Given the description of an element on the screen output the (x, y) to click on. 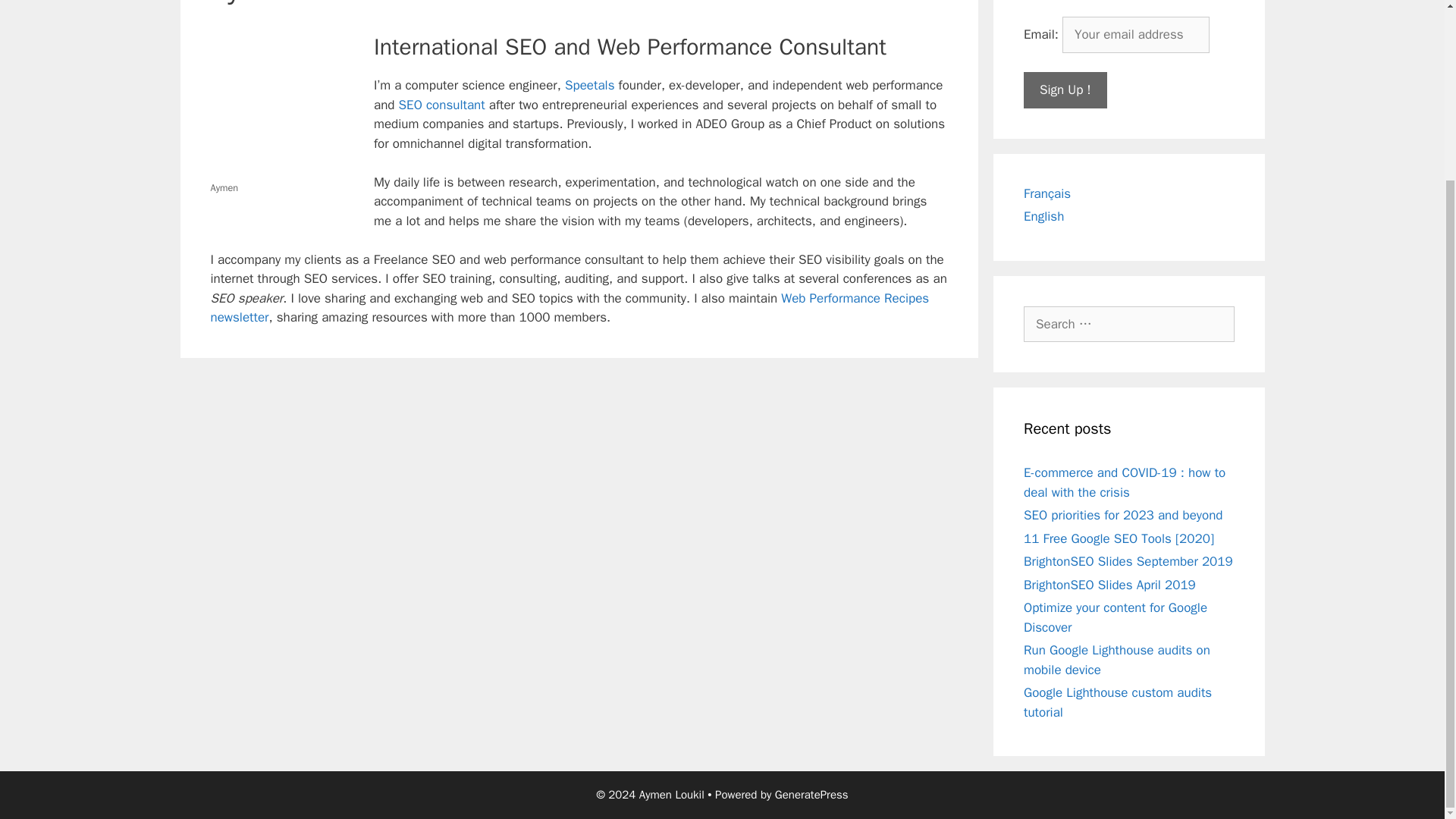
Run Google Lighthouse audits on mobile device (1116, 660)
Optimize your content for Google Discover (1115, 617)
Sign Up ! (1064, 90)
Speetals (589, 84)
Web Performance Recipes newsletter (570, 307)
SEO consultant (441, 105)
GeneratePress (811, 794)
Search for: (1128, 324)
BrightonSEO Slides September 2019 (1128, 561)
English (1043, 216)
SEO priorities for 2023 and beyond (1123, 514)
Sign Up ! (1064, 90)
Google Lighthouse custom audits tutorial (1117, 702)
E-commerce and COVID-19 : how to deal with the crisis (1124, 482)
BrightonSEO Slides April 2019 (1109, 584)
